Given the description of an element on the screen output the (x, y) to click on. 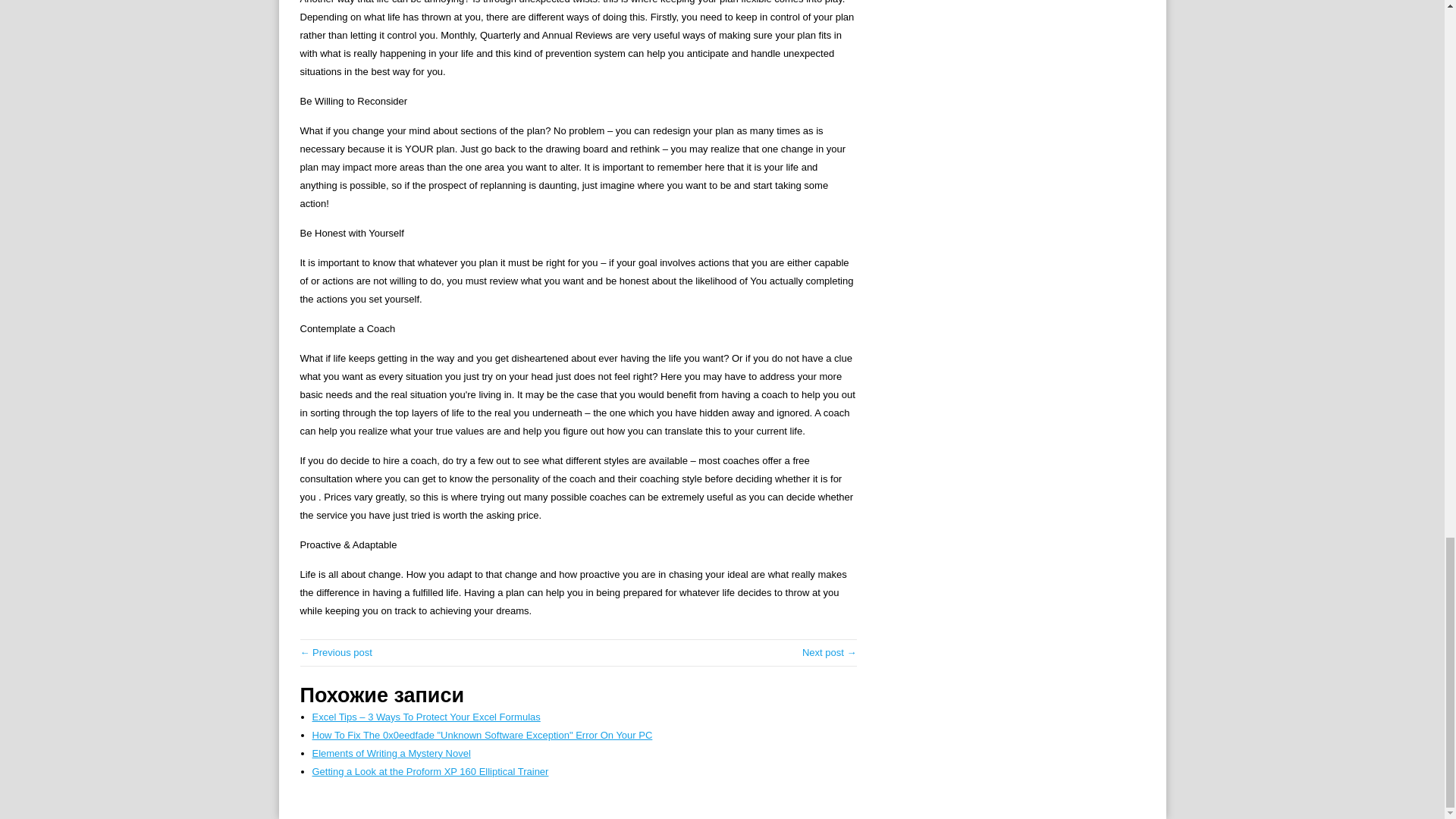
Getting a Look at the Proform XP 160 Elliptical Trainer (430, 771)
4 Simple Tips to Being Irresistible to a Man Called of God (829, 652)
Why You Should Have a Love Affair With Problems (335, 652)
Elements of Writing a Mystery Novel (391, 753)
